Given the description of an element on the screen output the (x, y) to click on. 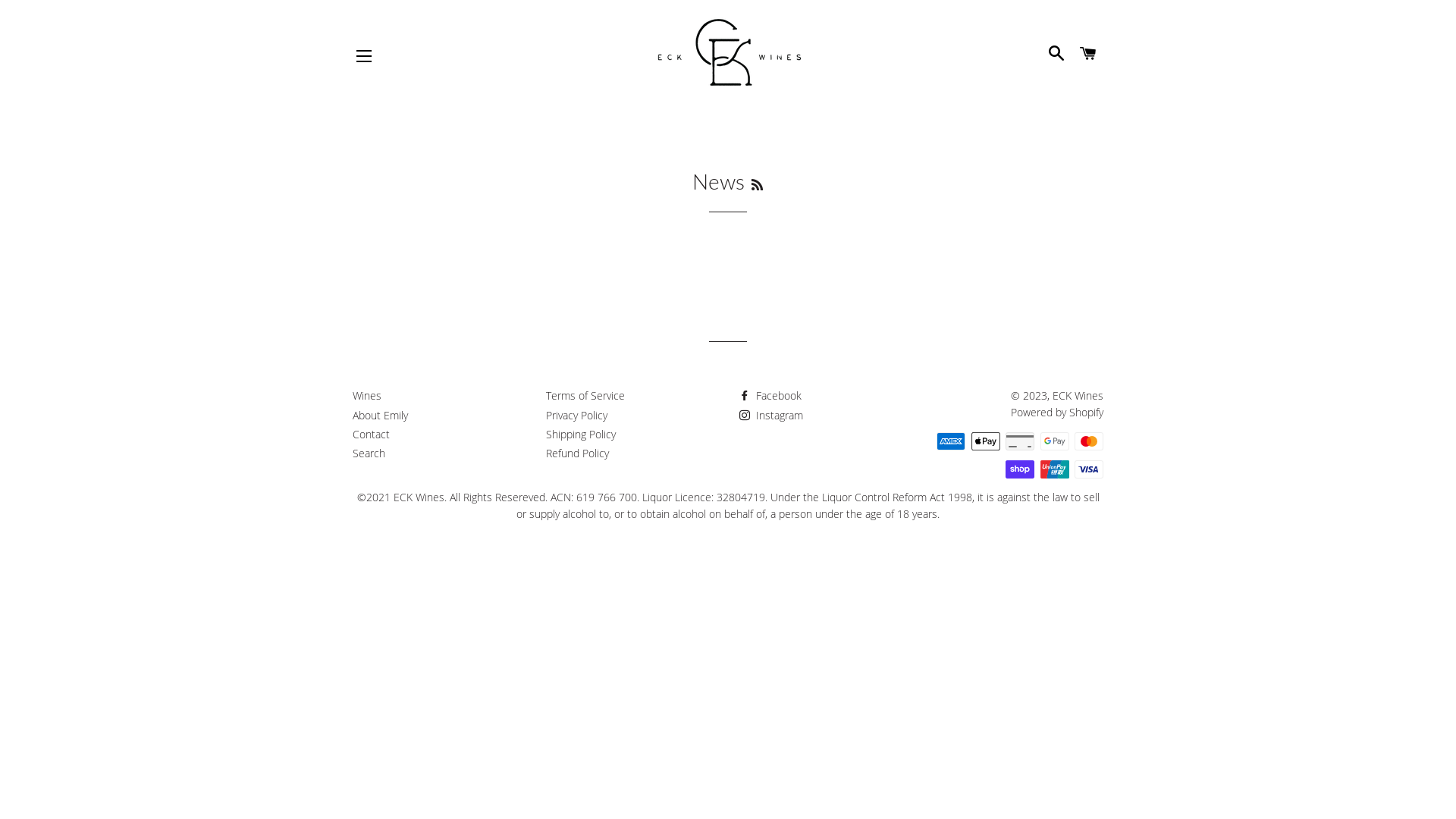
Contact Element type: text (370, 433)
Terms of Service Element type: text (585, 395)
Search Element type: text (368, 452)
Facebook Element type: text (770, 395)
Wines Element type: text (366, 395)
Instagram Element type: text (771, 414)
Privacy Policy Element type: text (576, 414)
Refund Policy Element type: text (577, 452)
ECK Wines Element type: text (1077, 395)
Shipping Policy Element type: text (580, 433)
CART Element type: text (1088, 52)
SEARCH Element type: text (1055, 52)
About Emily Element type: text (379, 414)
RSS Element type: text (756, 184)
SITE NAVIGATION Element type: text (363, 56)
Powered by Shopify Element type: text (1056, 411)
